Given the description of an element on the screen output the (x, y) to click on. 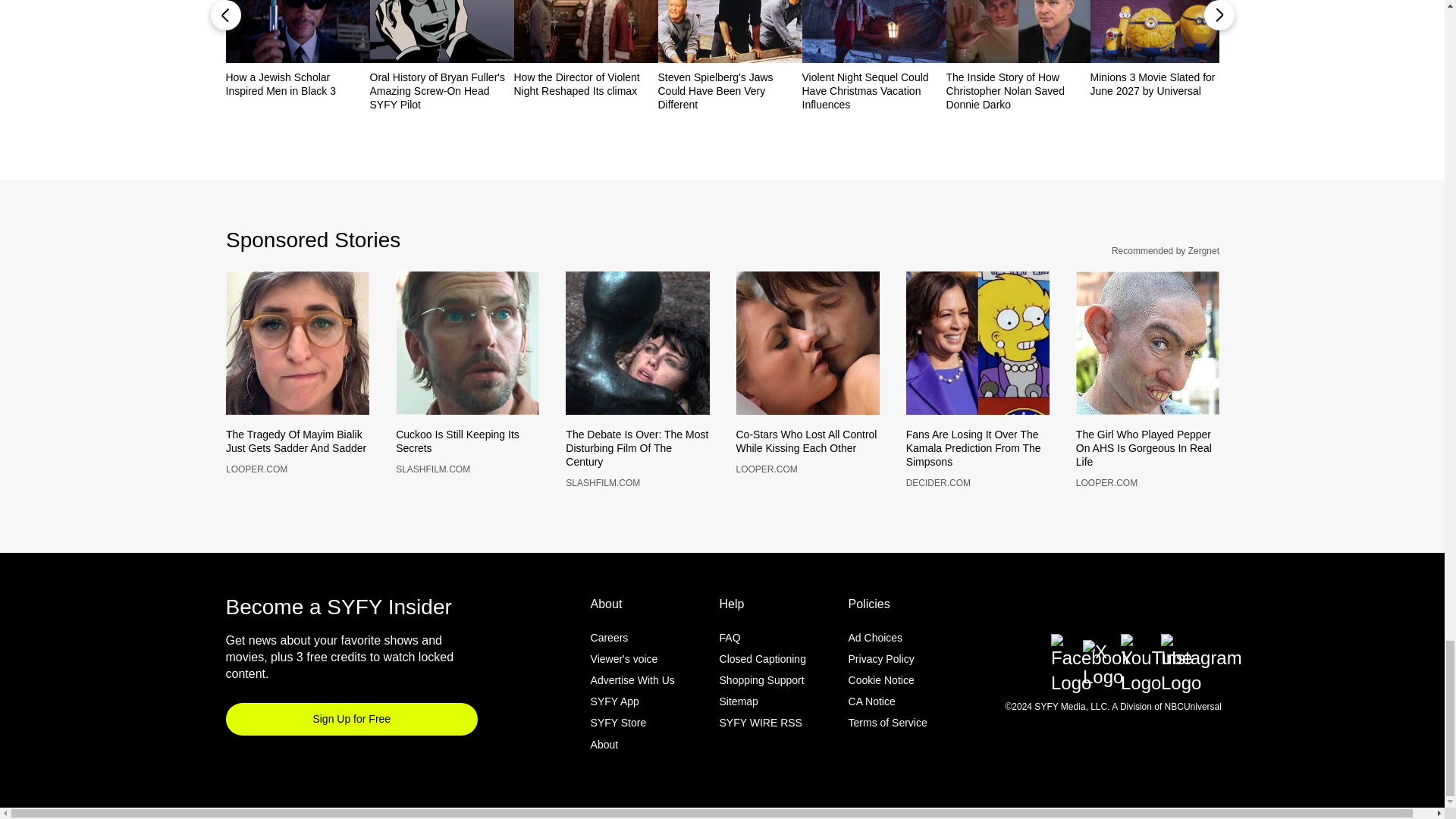
How a Jewish Scholar Inspired Men in Black 3 (297, 83)
How the Director of Violent Night Reshaped Its climax (585, 83)
Advertise With Us (633, 705)
